Given the description of an element on the screen output the (x, y) to click on. 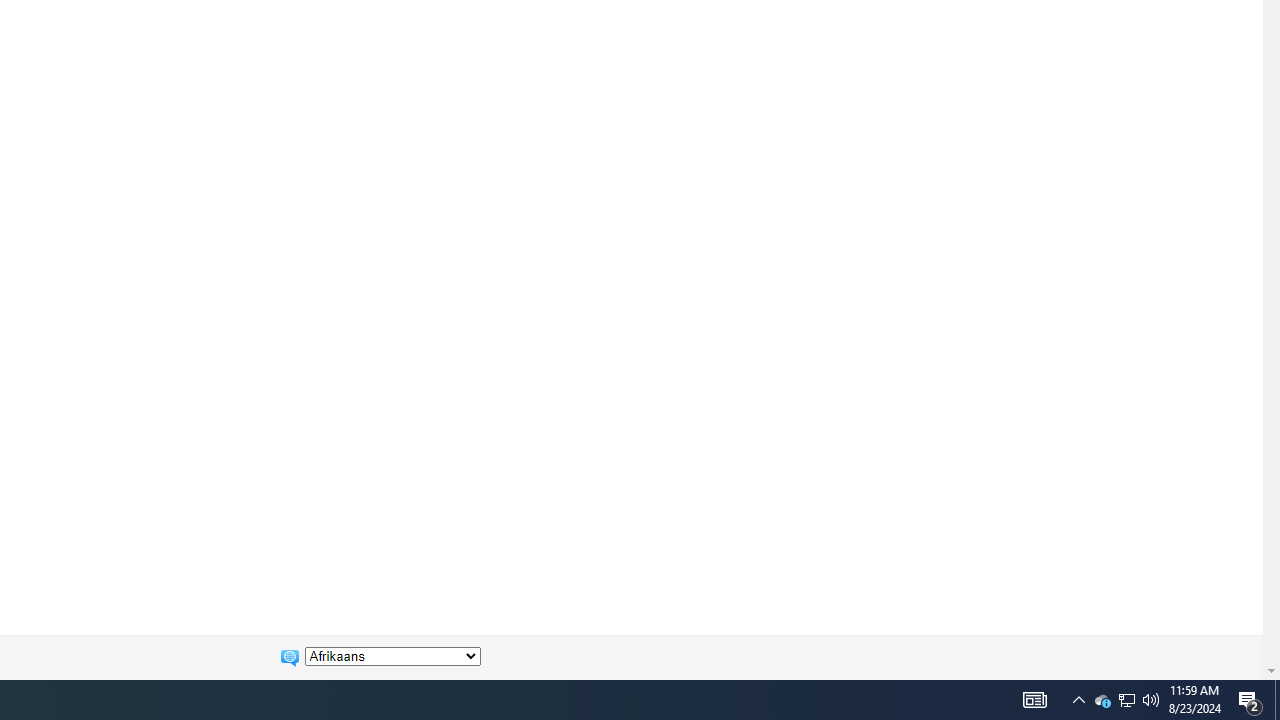
Verander taal: (392, 656)
